Given the description of an element on the screen output the (x, y) to click on. 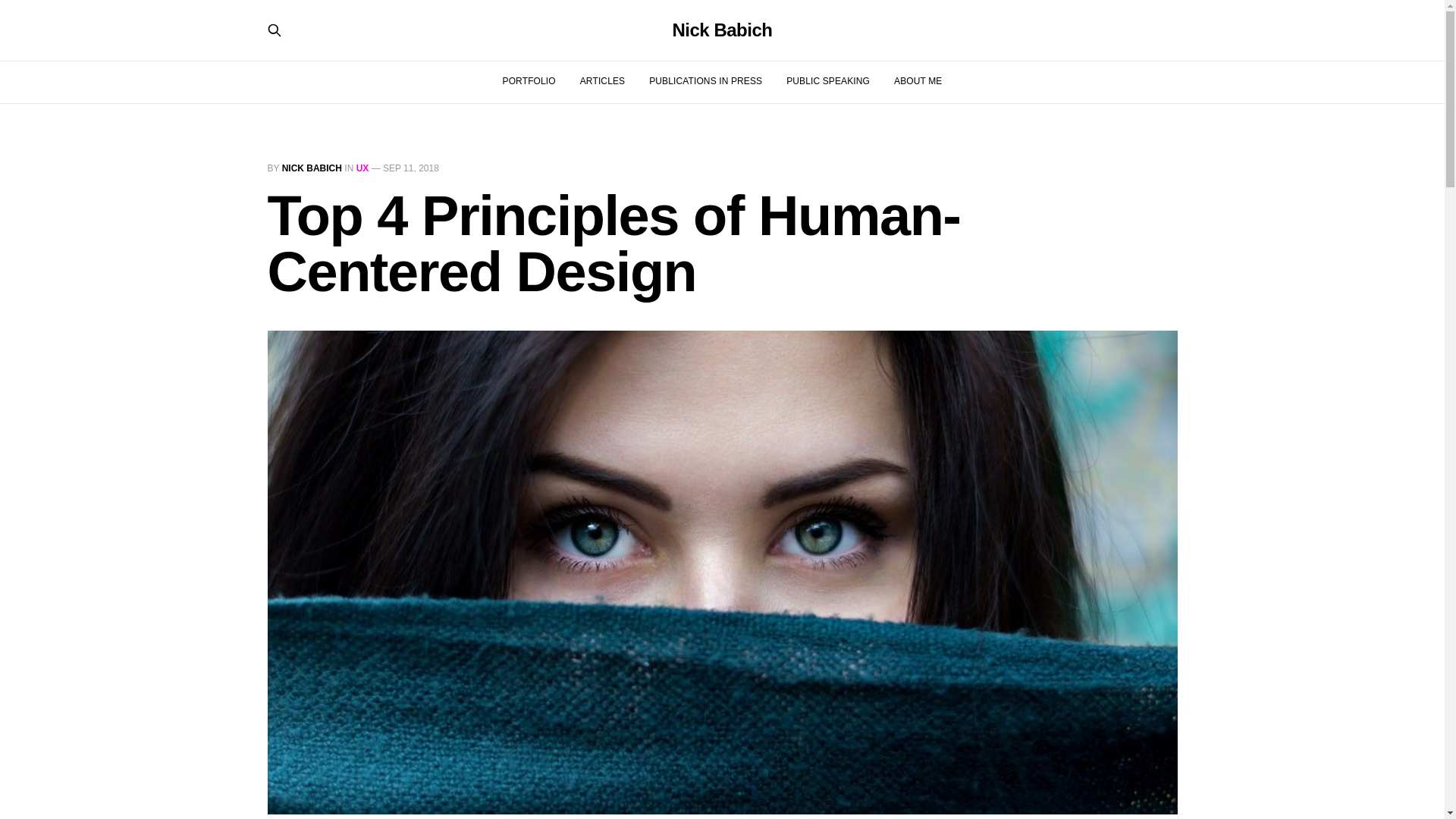
UX (362, 167)
ABOUT ME (917, 81)
ARTICLES (601, 81)
PUBLICATIONS IN PRESS (705, 81)
Nick Babich (721, 30)
PORTFOLIO (529, 81)
PUBLIC SPEAKING (827, 81)
NICK BABICH (312, 167)
